Given the description of an element on the screen output the (x, y) to click on. 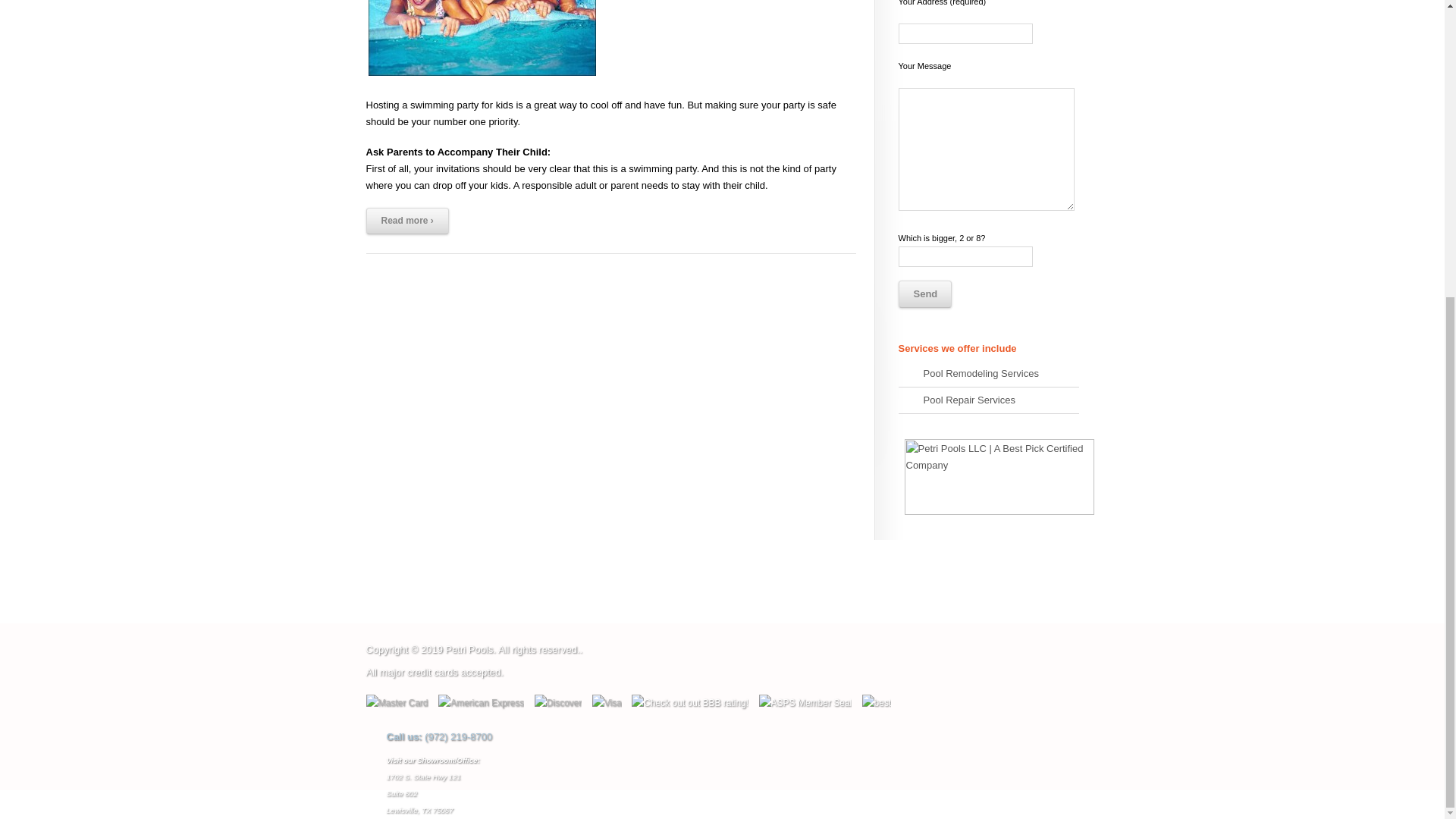
kids-at-pool (480, 49)
Pool Repair Services (988, 424)
ASPS (734, 777)
Send (924, 317)
ASPS Member Seal (734, 756)
Pool Remodeling Services (988, 397)
Pool Repair Services (988, 424)
Send (924, 317)
Pool Remodeling Services (988, 397)
